Given the description of an element on the screen output the (x, y) to click on. 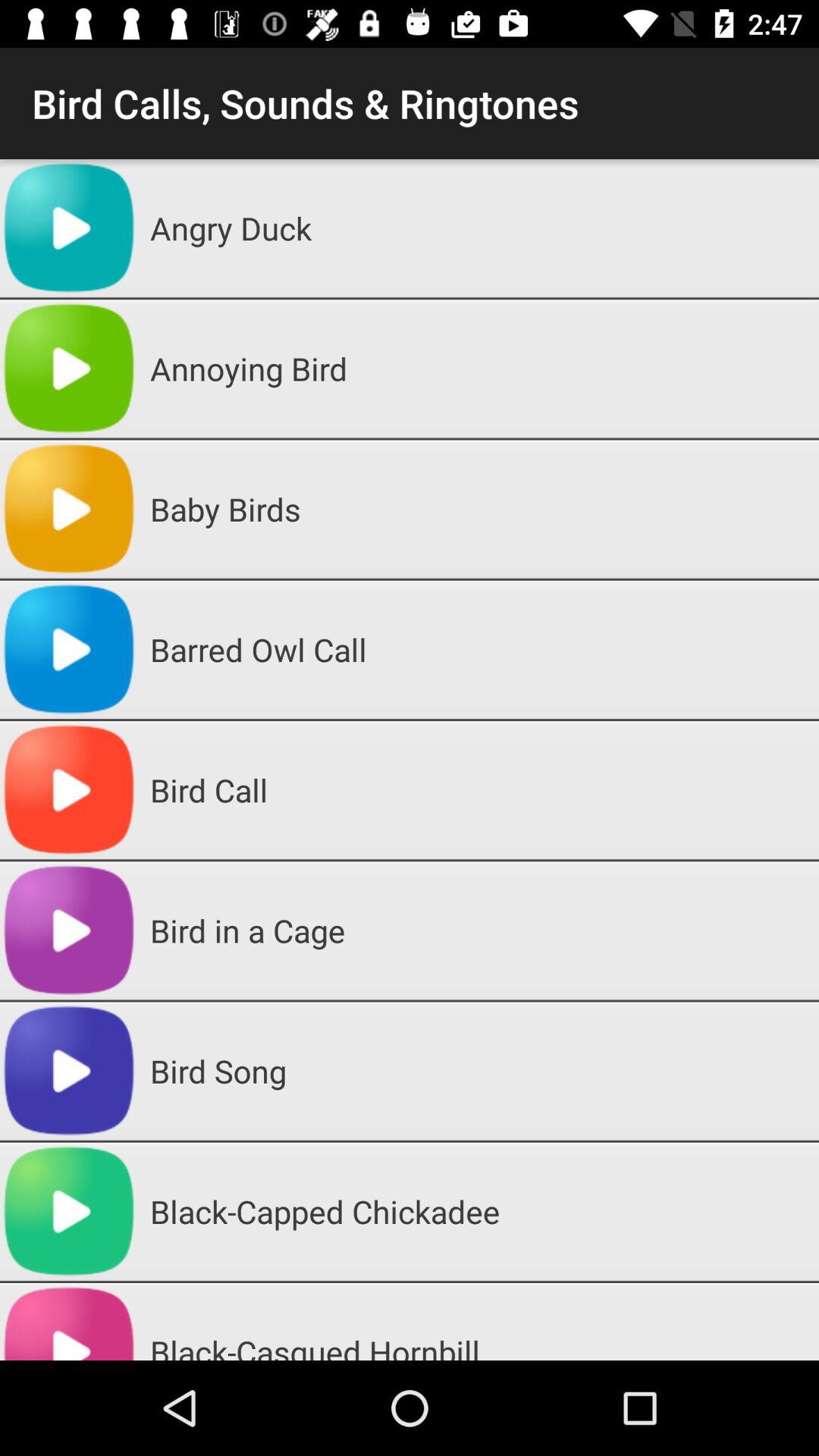
scroll until the annoying bird app (478, 368)
